Given the description of an element on the screen output the (x, y) to click on. 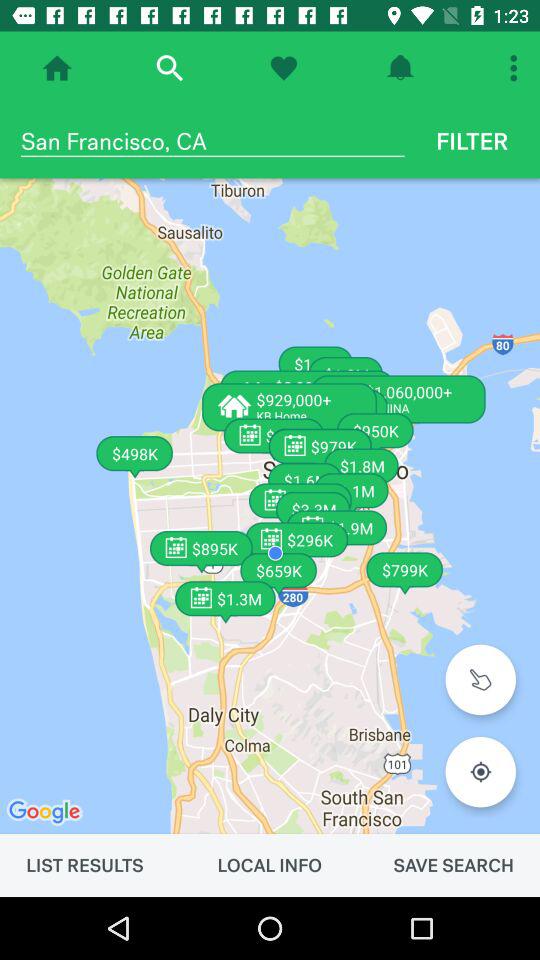
like the picture (283, 68)
